Given the description of an element on the screen output the (x, y) to click on. 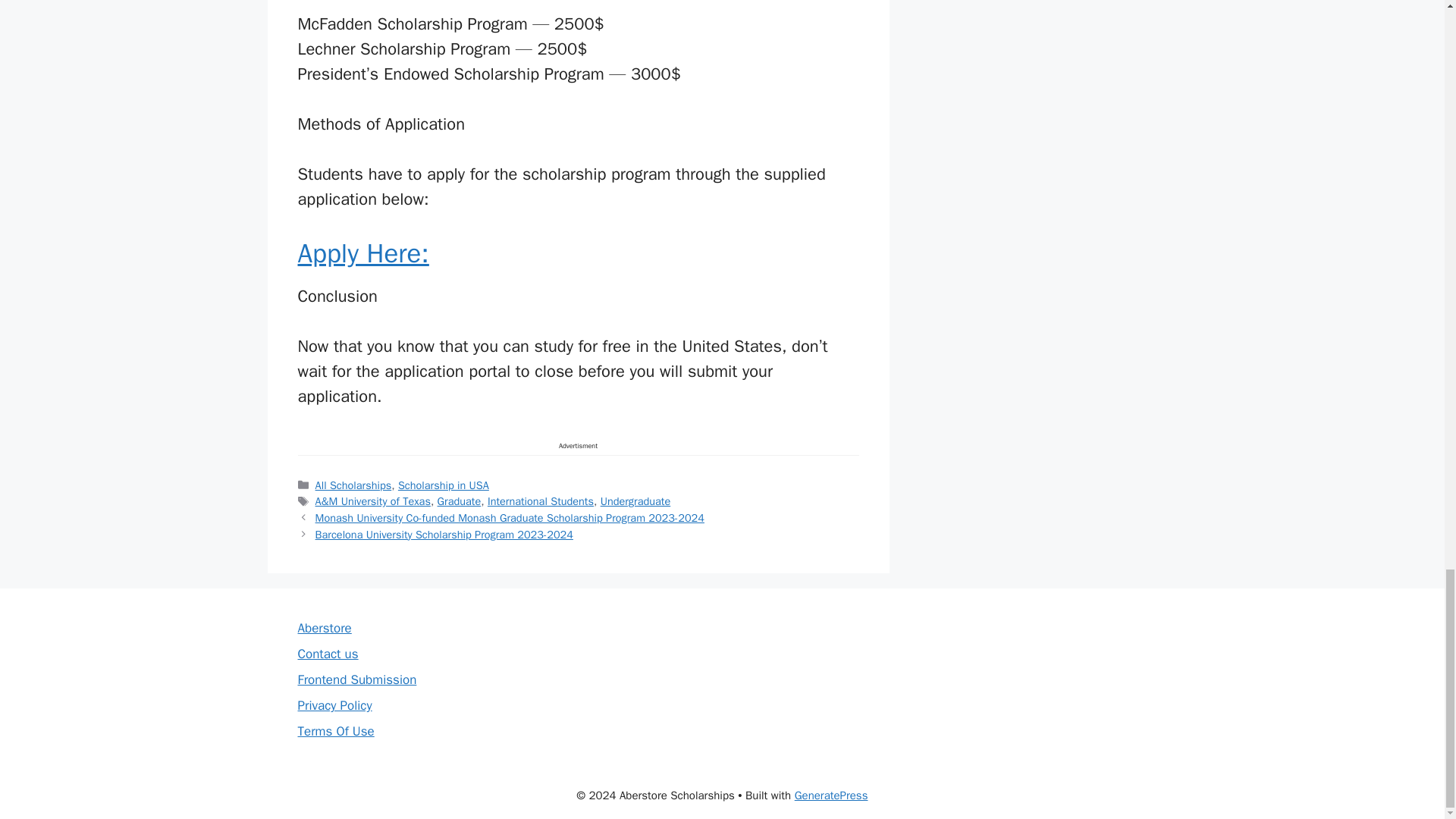
Barcelona University Scholarship Program 2023-2024 (444, 534)
Graduate (459, 500)
International Students (540, 500)
Aberstore (323, 627)
All Scholarships (353, 485)
Terms Of Use (335, 731)
Scholarship in USA (443, 485)
Privacy Policy (334, 705)
Frontend Submission (356, 679)
Contact us (327, 653)
